Given the description of an element on the screen output the (x, y) to click on. 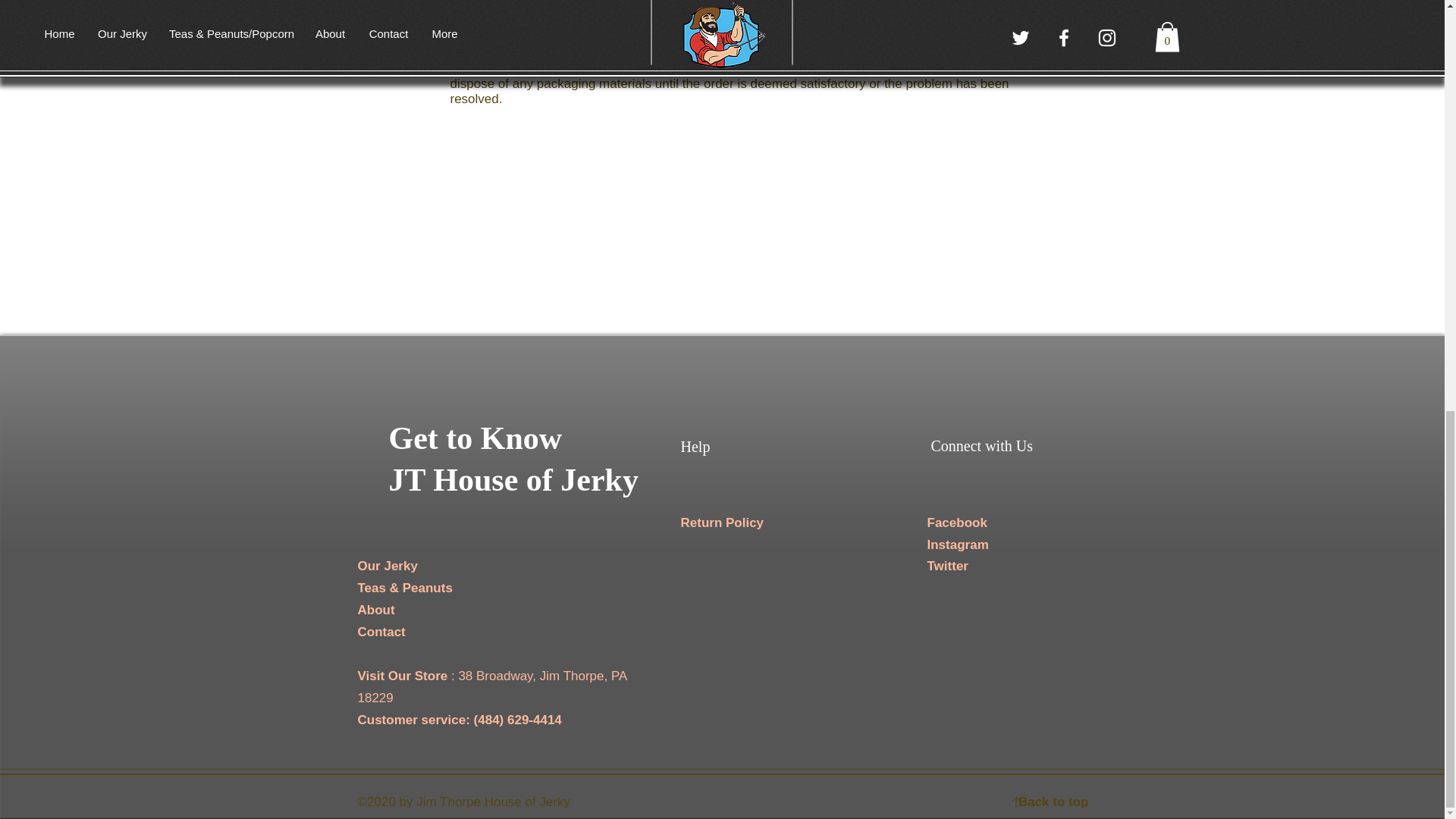
Instagram (957, 544)
About (376, 609)
Twitter (947, 565)
Back to top (1053, 801)
Our Jerky (387, 565)
Return Policy (722, 522)
Contact (382, 631)
Facebook (956, 522)
